Given the description of an element on the screen output the (x, y) to click on. 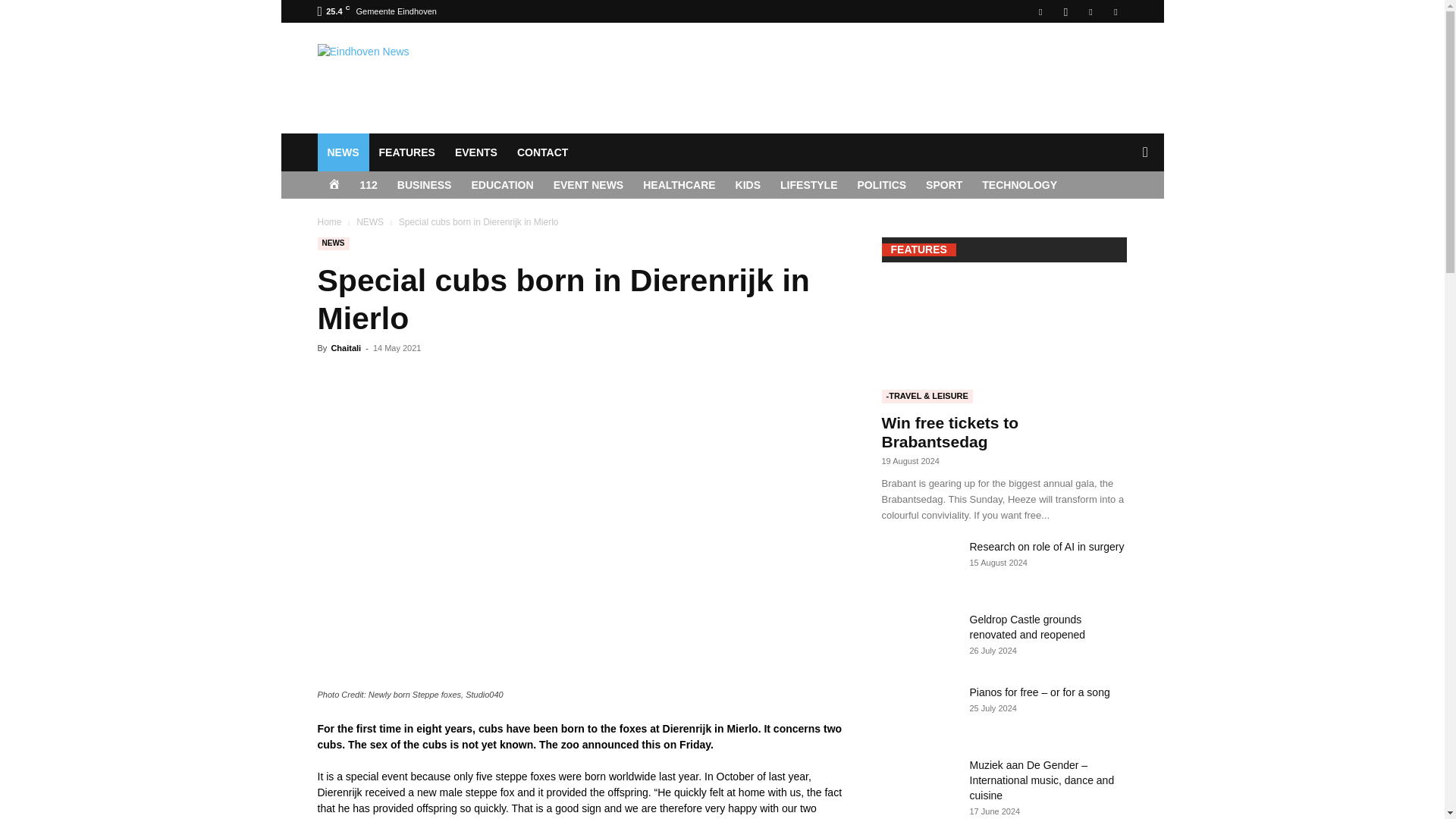
HEALTHCARE (679, 185)
EVENT NEWS (588, 185)
Facebook (1040, 11)
EVENTS (475, 152)
View all posts in NEWS (370, 222)
Instagram (1065, 11)
112 (368, 185)
NEWS (342, 152)
EDUCATION (502, 185)
